Given the description of an element on the screen output the (x, y) to click on. 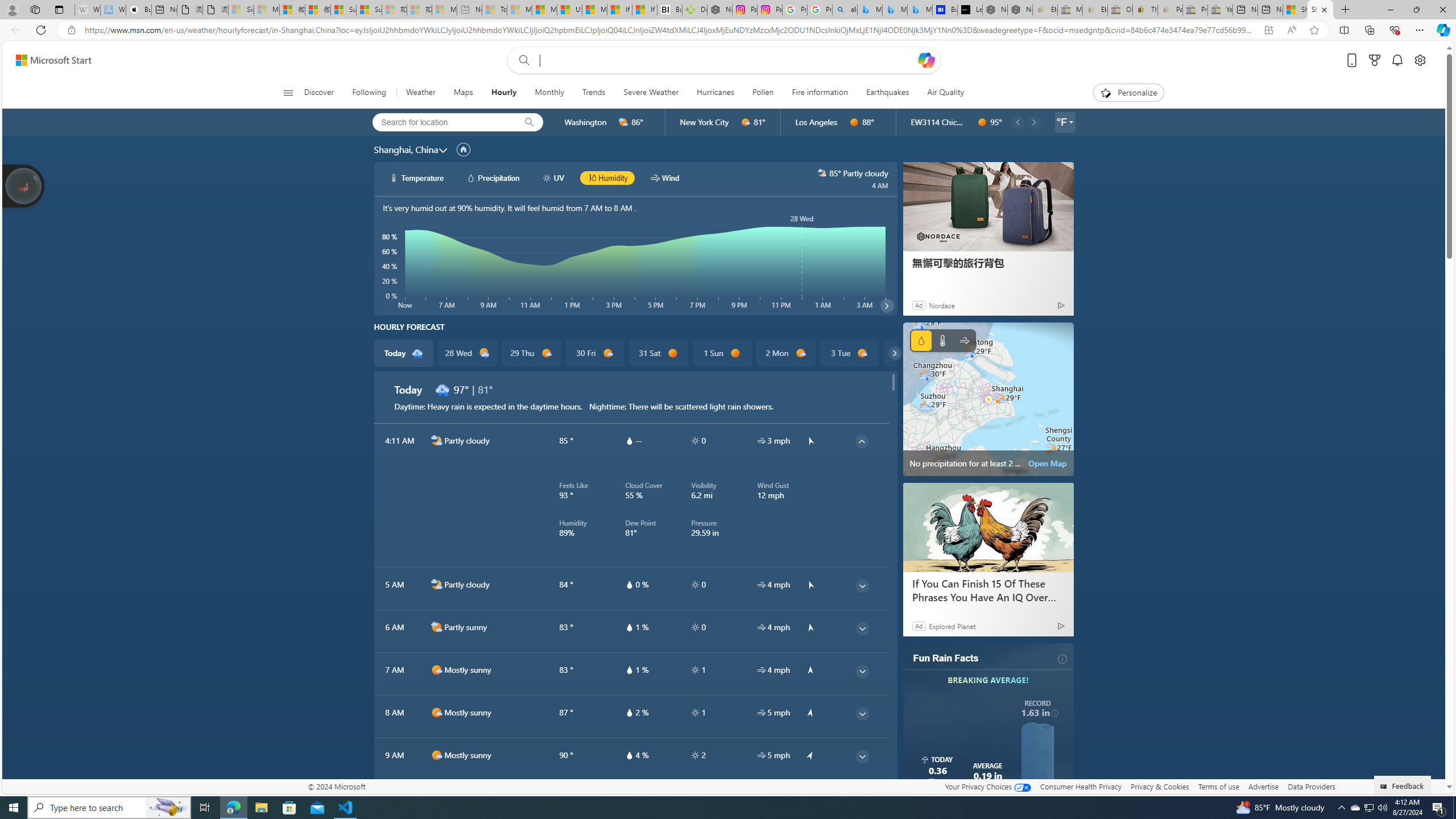
Today d4300 (403, 352)
common/arrow (809, 797)
US Heat Deaths Soared To Record High Last Year (568, 9)
Fire information (819, 92)
Buy iPad - Apple (137, 9)
d2100 (484, 353)
